Given the description of an element on the screen output the (x, y) to click on. 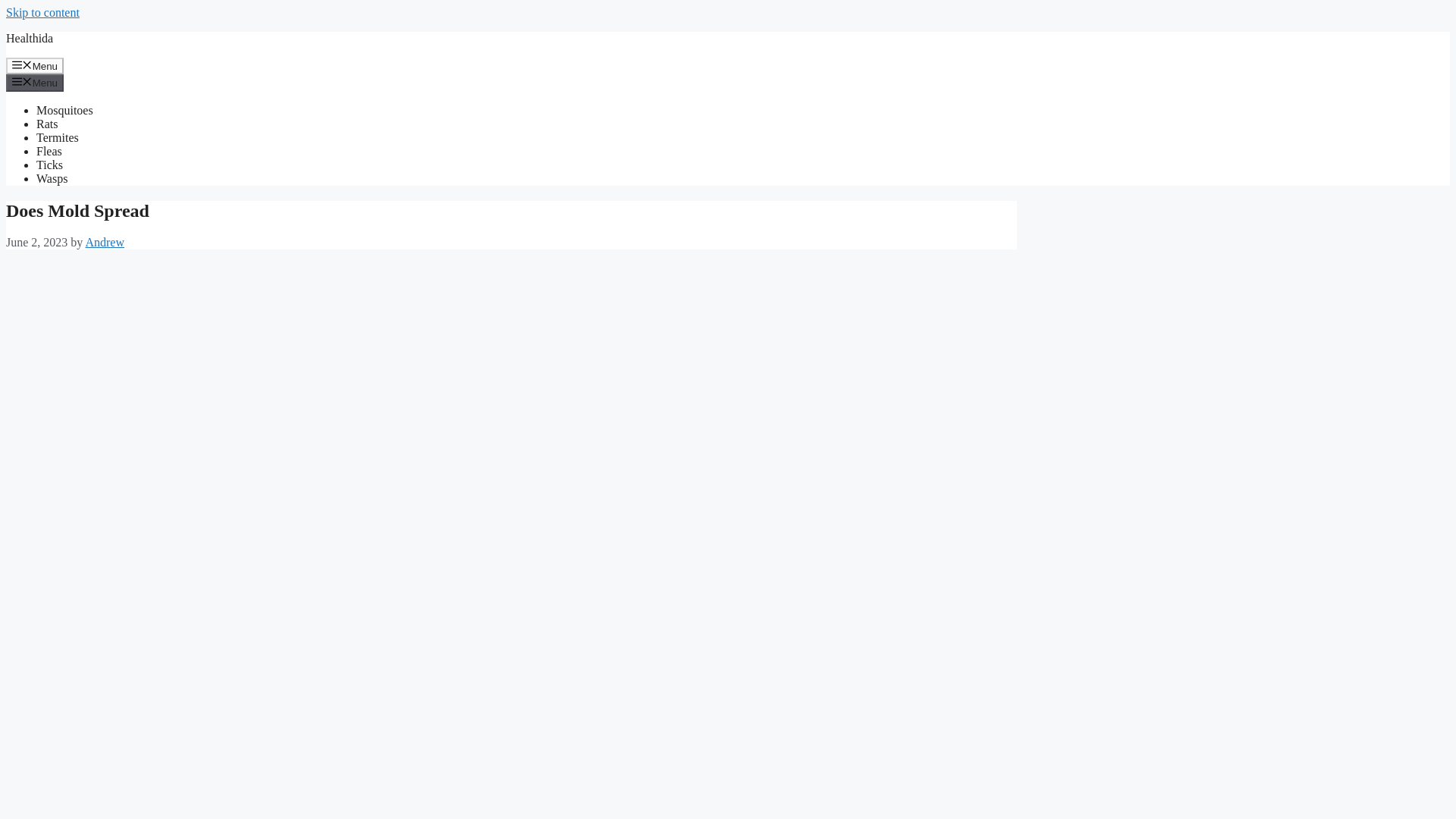
Skip to content (42, 11)
Wasps (51, 178)
Rats (47, 123)
Fleas (49, 151)
Healthida (28, 38)
Menu (34, 65)
Skip to content (42, 11)
Mosquitoes (64, 110)
Menu (34, 82)
Ticks (49, 164)
